Given the description of an element on the screen output the (x, y) to click on. 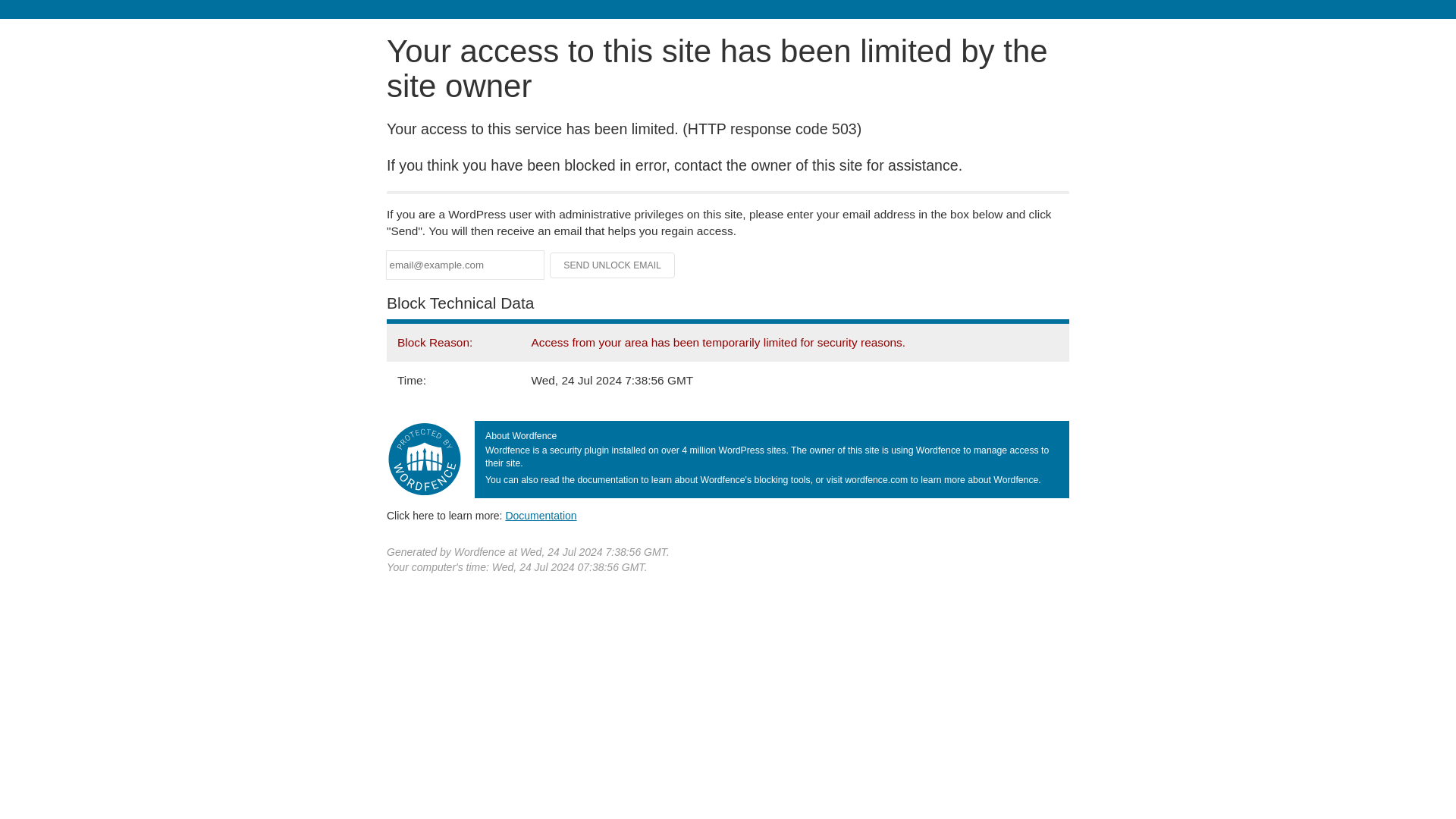
Send Unlock Email (612, 265)
Send Unlock Email (612, 265)
Documentation (540, 515)
